Given the description of an element on the screen output the (x, y) to click on. 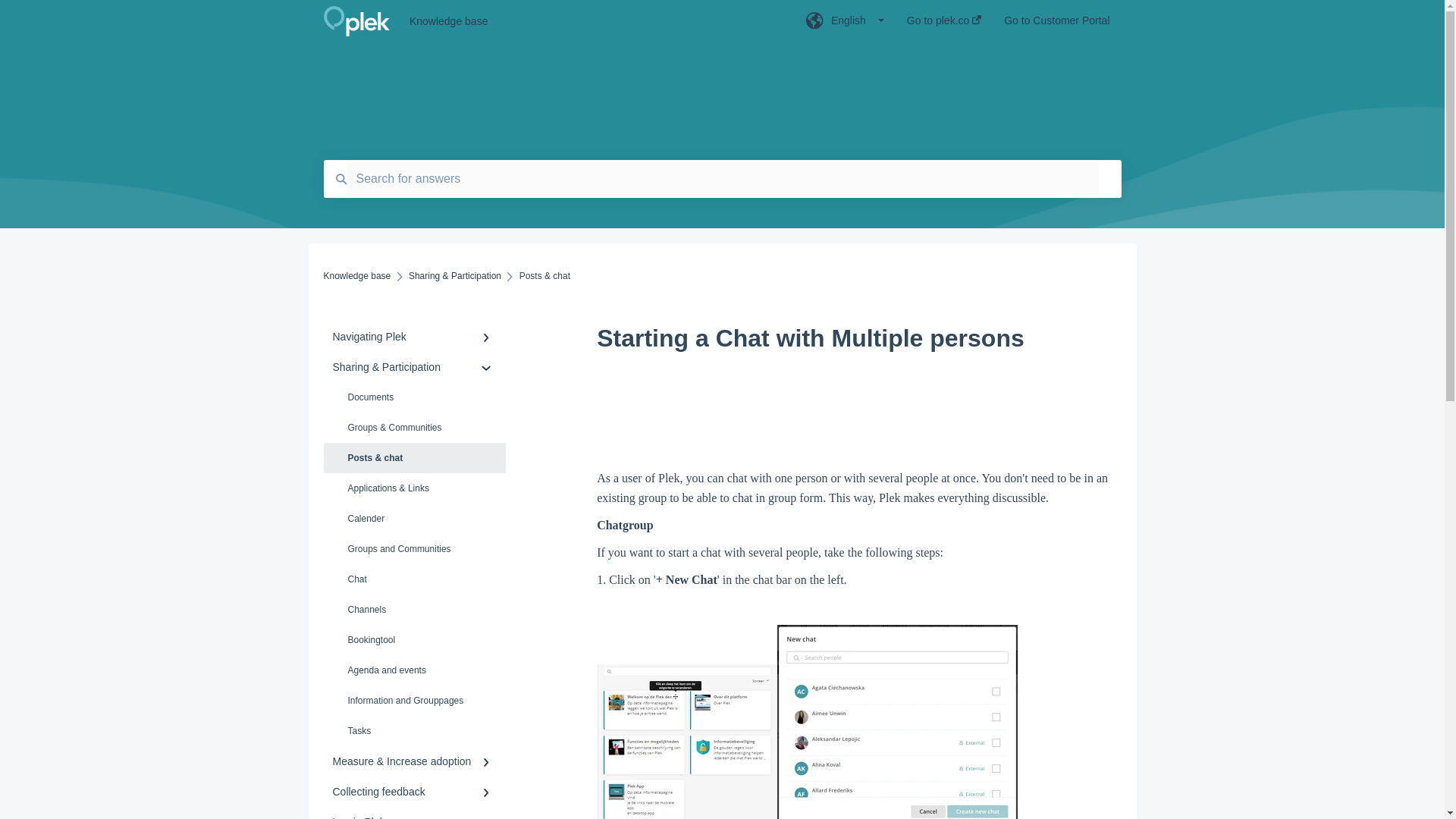
Knowledge base (584, 21)
Go to plek.co (944, 25)
English (844, 25)
Go to Customer Portal (1056, 25)
